Given the description of an element on the screen output the (x, y) to click on. 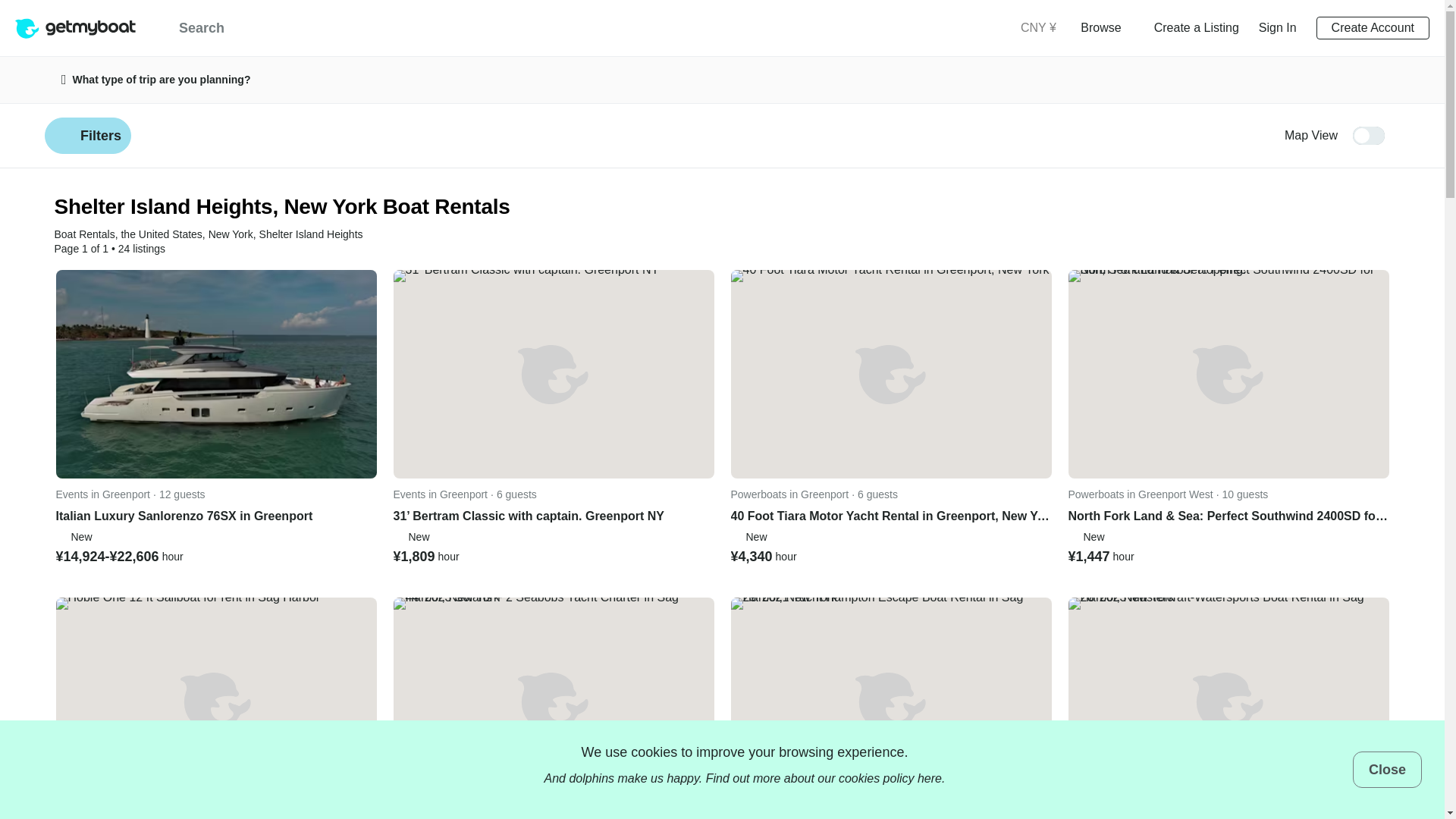
Create Account (1372, 27)
Boat Rentals (85, 234)
cookies policy here (890, 778)
Close (1387, 769)
Shelter Island Heights (310, 234)
Filters (88, 135)
Sign In (1278, 27)
New York (230, 234)
Browse (1106, 26)
Create a Listing (1196, 27)
the United States (161, 234)
